Given the description of an element on the screen output the (x, y) to click on. 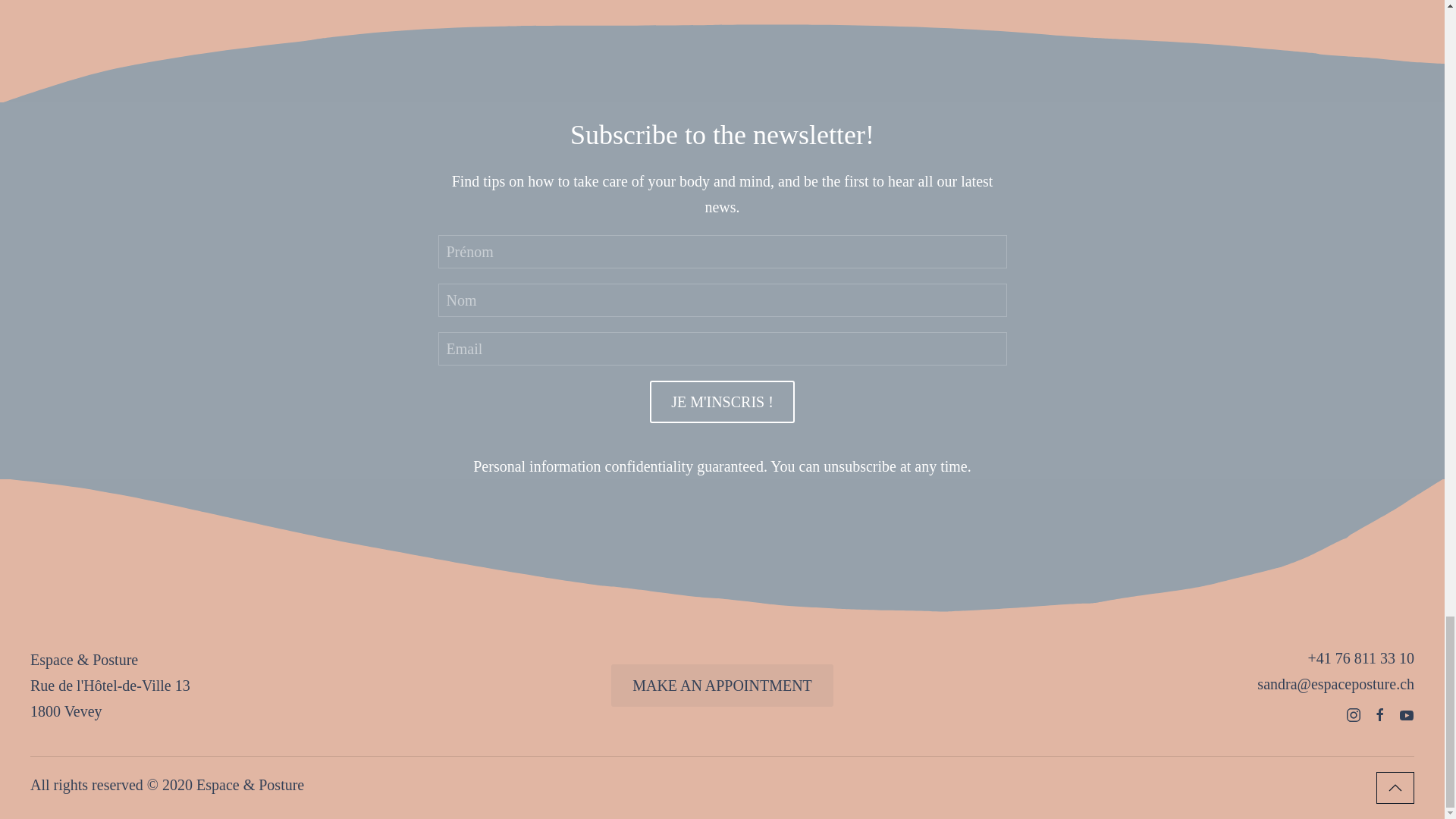
Je m'inscris ! (721, 401)
MAKE AN APPOINTMENT (721, 685)
Je m'inscris ! (721, 401)
